Given the description of an element on the screen output the (x, y) to click on. 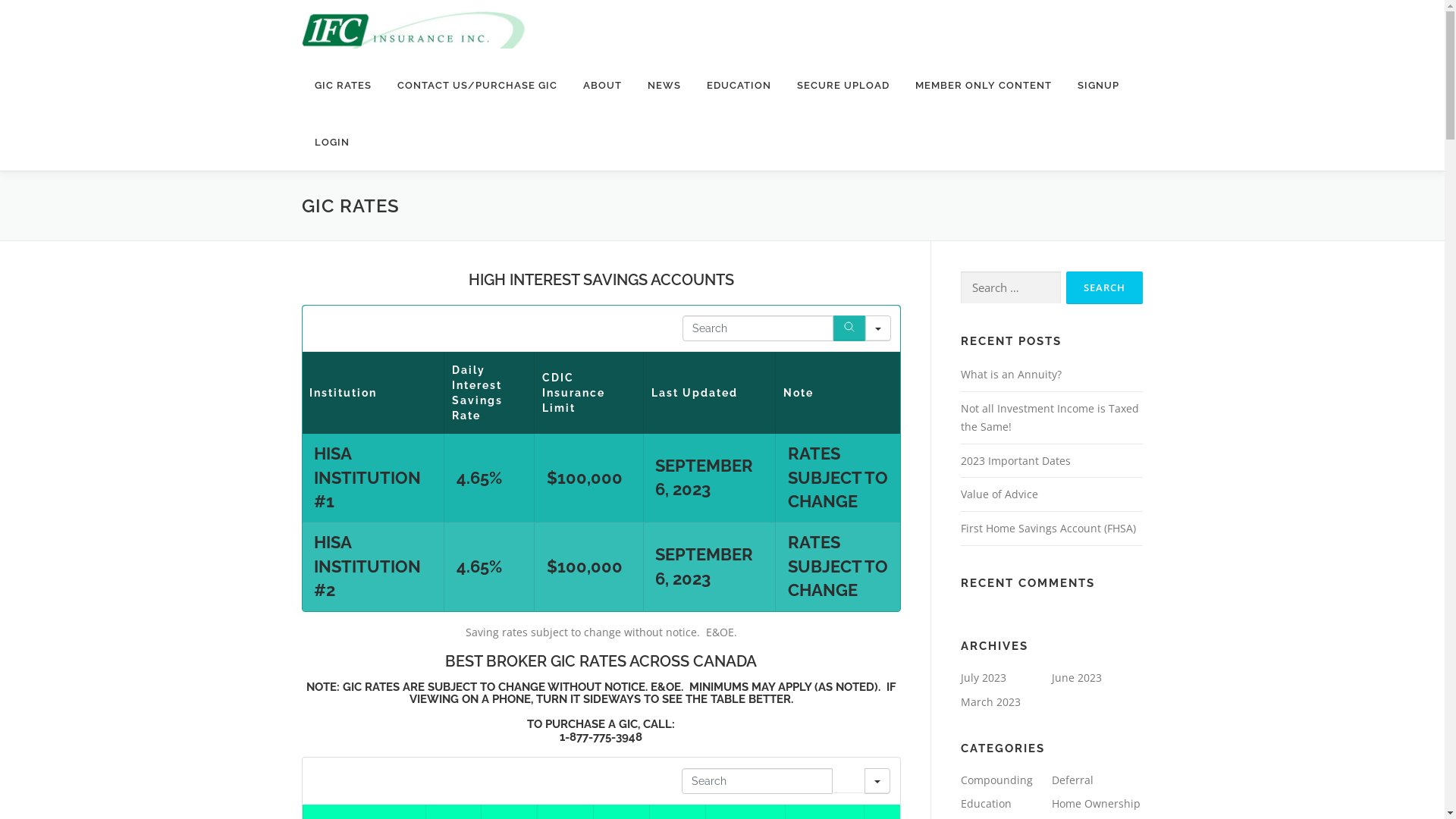
Search Element type: text (849, 328)
2023 Important Dates Element type: text (1015, 460)
Not all Investment Income is Taxed the Same! Element type: text (1049, 417)
SECURE UPLOAD Element type: text (843, 84)
What is an Annuity? Element type: text (1010, 374)
MEMBER ONLY CONTENT Element type: text (983, 84)
Value of Advice Element type: text (998, 493)
NEWS Element type: text (663, 84)
Compounding Element type: text (996, 779)
Search in Element type: text (878, 328)
Search Element type: text (848, 780)
Education Element type: text (985, 803)
SIGNUP Element type: text (1098, 84)
Search Element type: text (1104, 287)
GIC RATES Element type: text (342, 84)
July 2023 Element type: text (982, 677)
LOGIN Element type: text (325, 141)
CONTACT US/PURCHASE GIC Element type: text (476, 84)
March 2023 Element type: text (989, 701)
Search in Element type: text (877, 780)
Home Ownership Element type: text (1095, 803)
Deferral Element type: text (1071, 779)
EDUCATION Element type: text (738, 84)
ABOUT Element type: text (602, 84)
First Home Savings Account (FHSA) Element type: text (1047, 527)
June 2023 Element type: text (1076, 677)
